Given the description of an element on the screen output the (x, y) to click on. 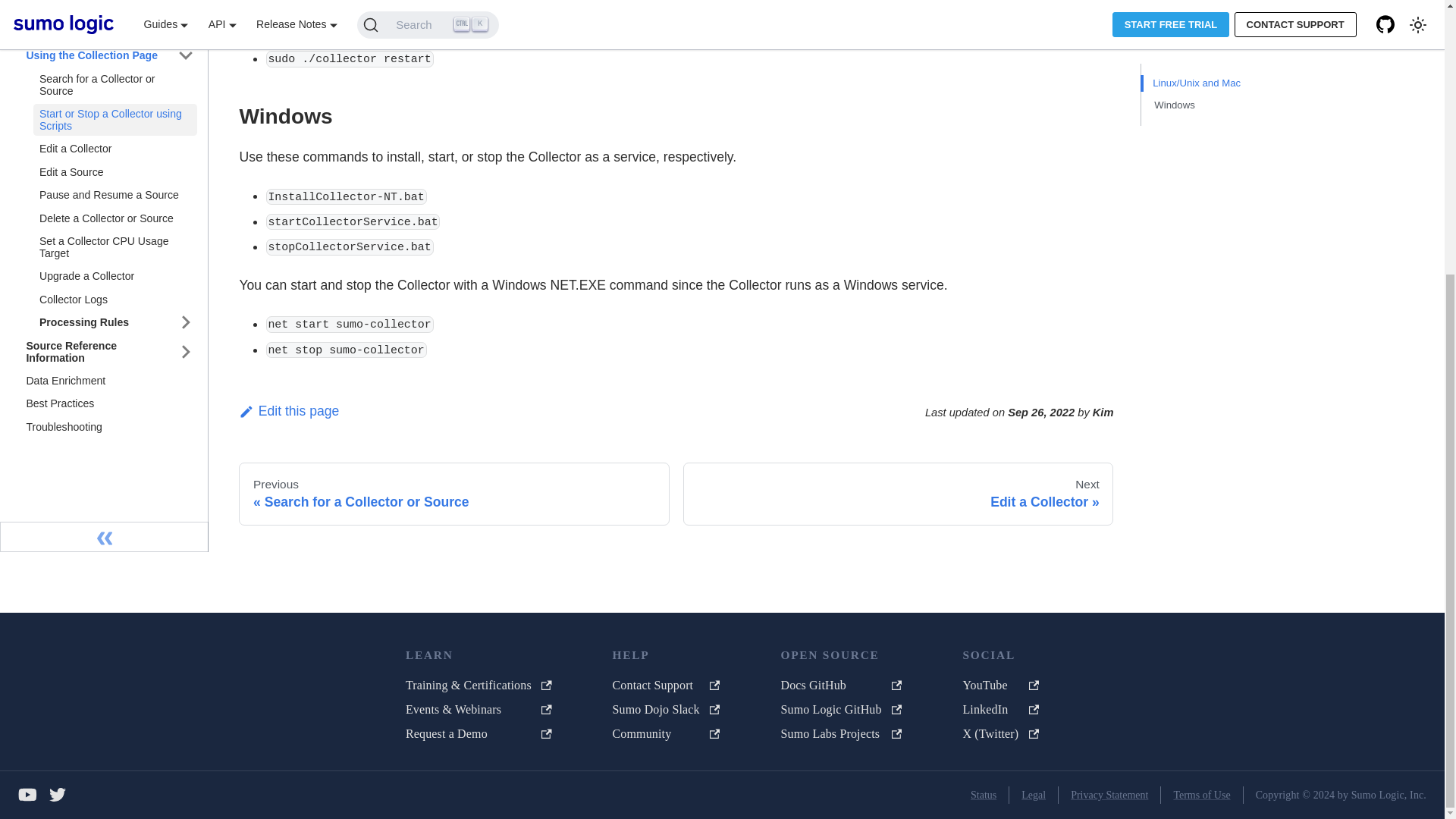
Collapse sidebar (104, 399)
